Given the description of an element on the screen output the (x, y) to click on. 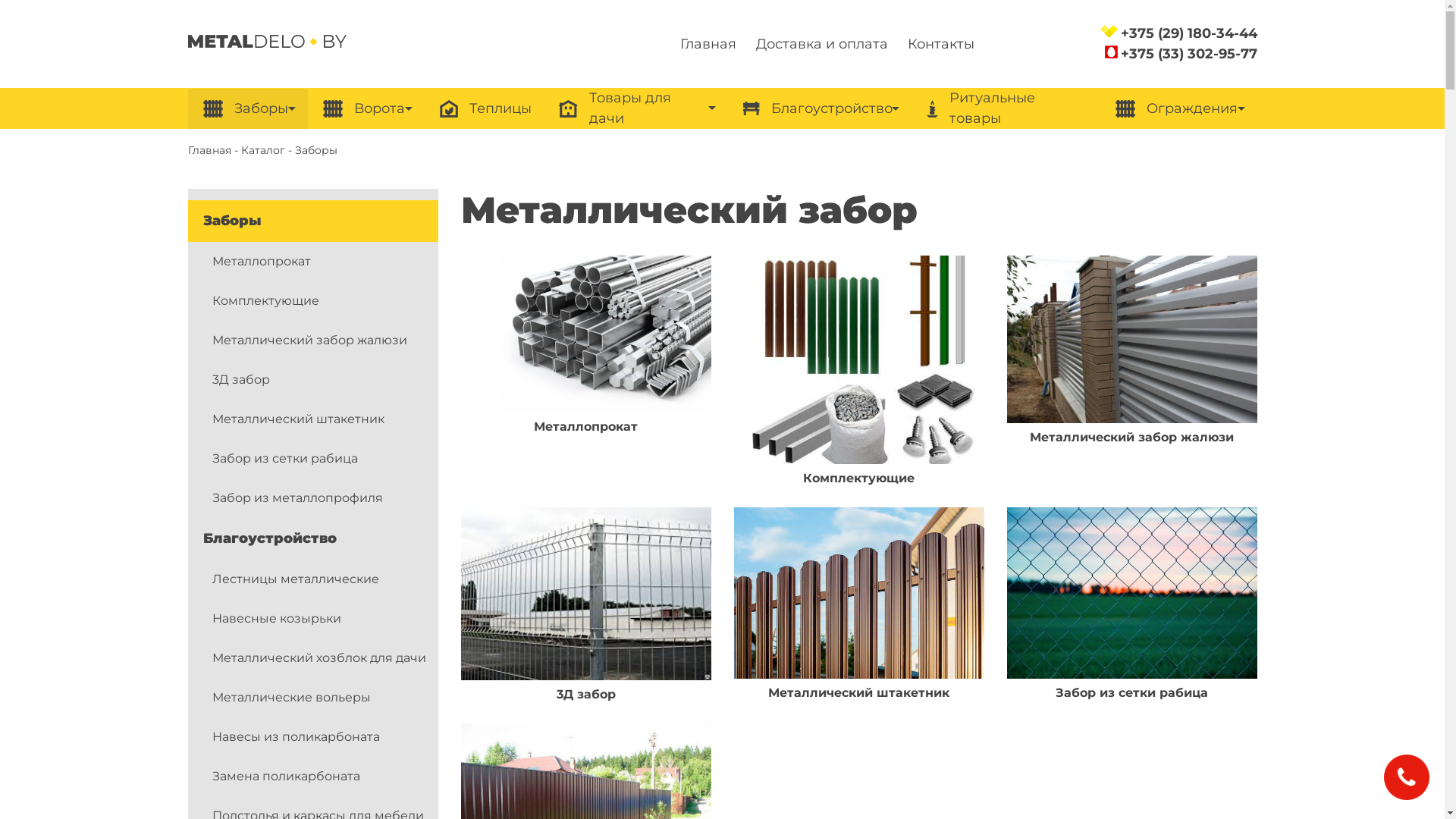
+375 (33) 302-95-77 Element type: text (1188, 53)
+375 (29) 180-34-44 Element type: text (1188, 33)
